Given the description of an element on the screen output the (x, y) to click on. 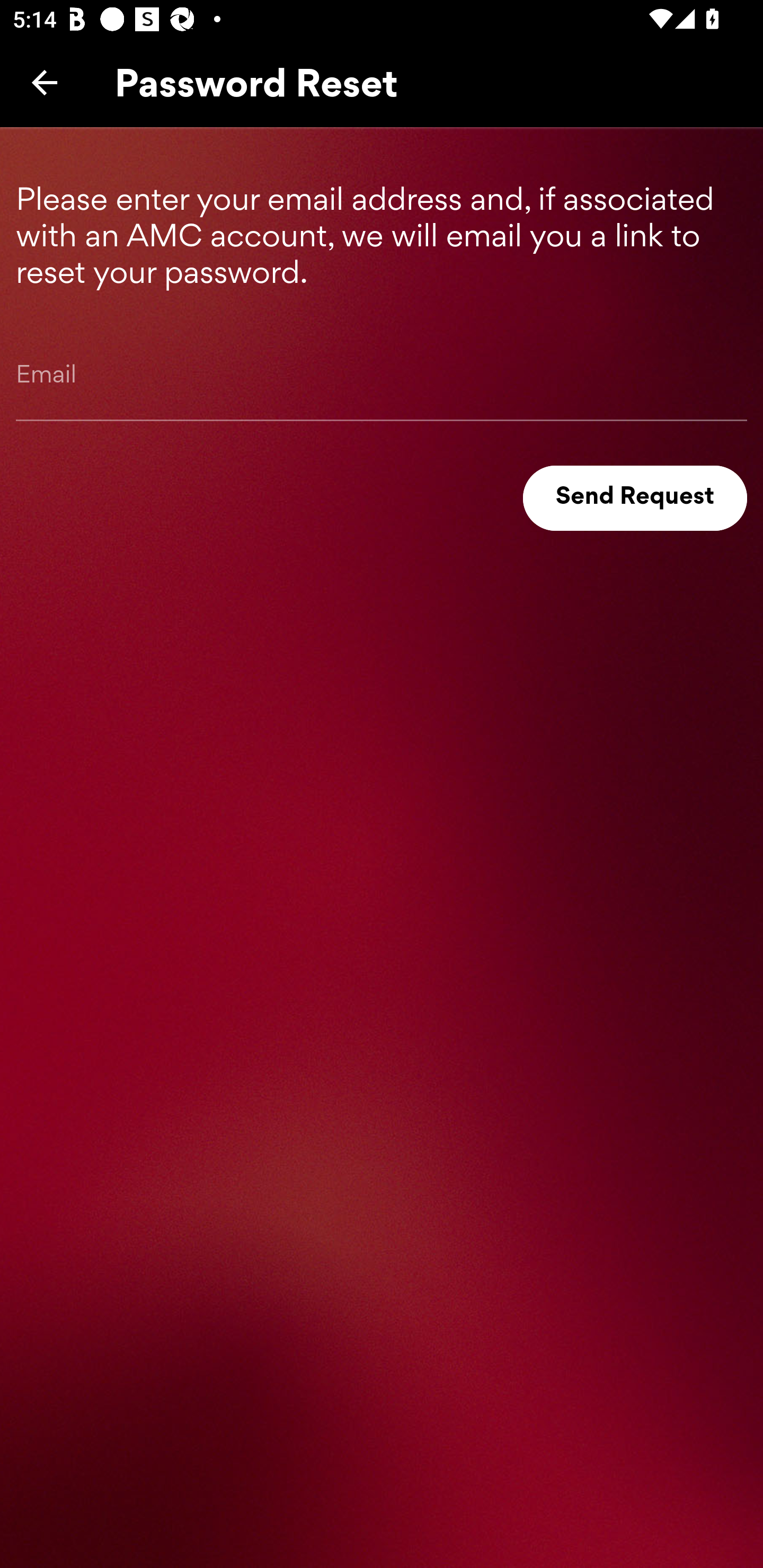
Back (44, 82)
Send Request (634, 498)
